Given the description of an element on the screen output the (x, y) to click on. 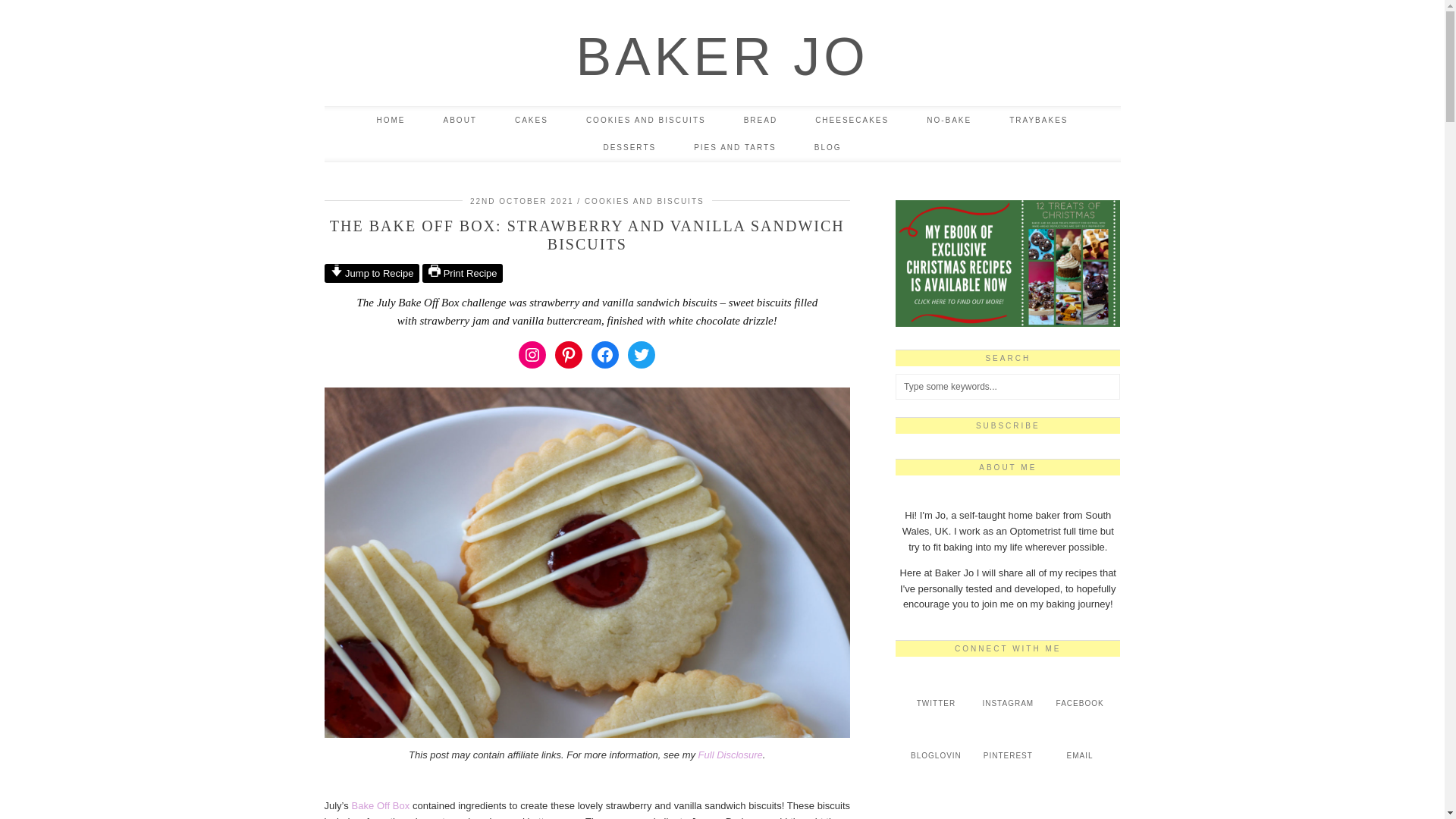
Baker Jo (721, 56)
COOKIES AND BISCUITS (646, 120)
HOME (391, 120)
ABOUT (460, 120)
BAKER JO (721, 56)
Bake Off Box (381, 805)
Jump to Recipe (372, 272)
Instagram (532, 354)
NO-BAKE (948, 120)
CAKES (531, 120)
